Given the description of an element on the screen output the (x, y) to click on. 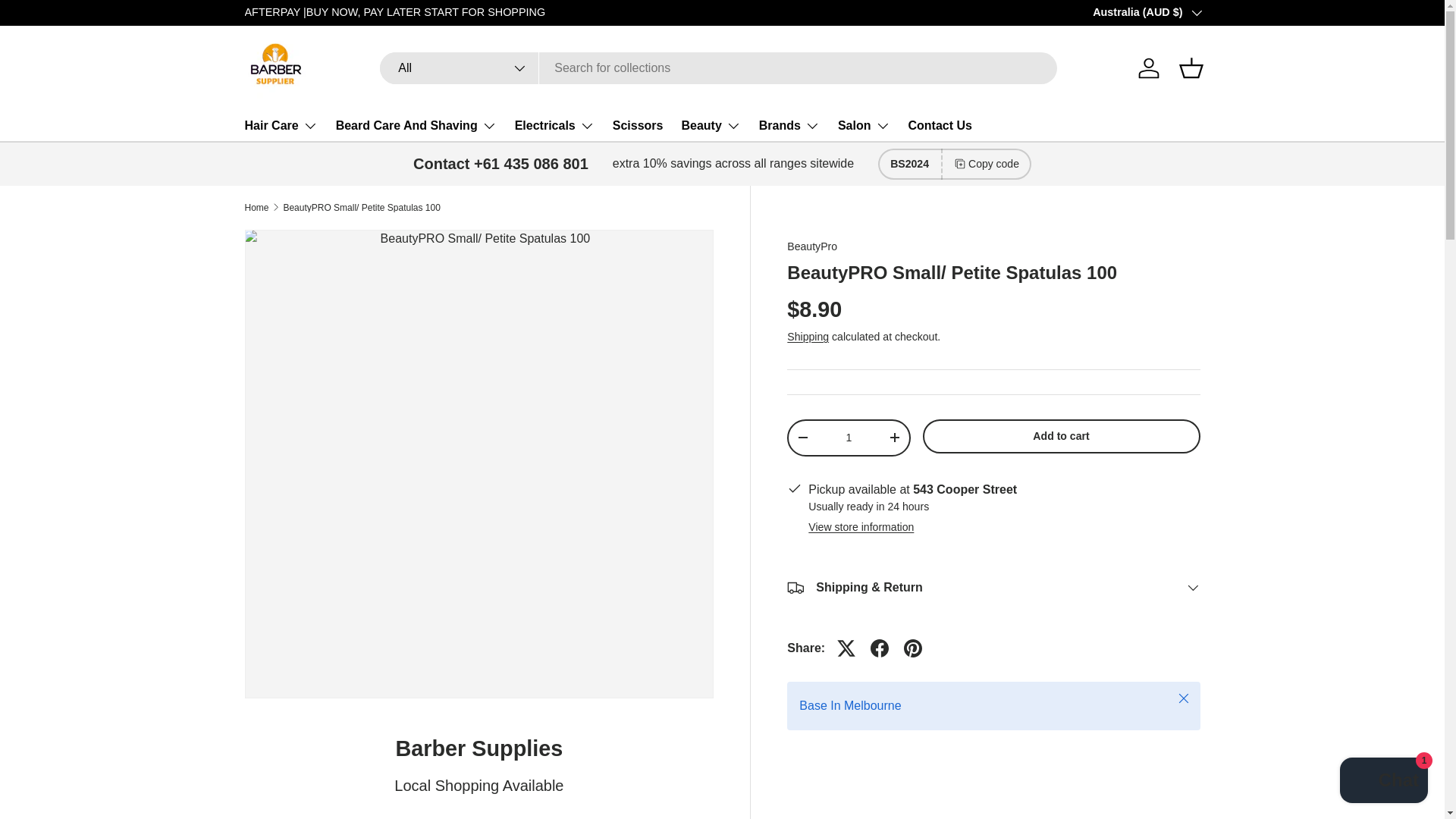
Skip to content (69, 21)
1 (847, 437)
Basket (1190, 68)
Share on Facebook (879, 648)
Pin on Pinterest (913, 648)
Tweet on X (846, 648)
Shopify online store chat (1383, 781)
All (459, 68)
Log in (1147, 68)
Hair Care (280, 125)
